Given the description of an element on the screen output the (x, y) to click on. 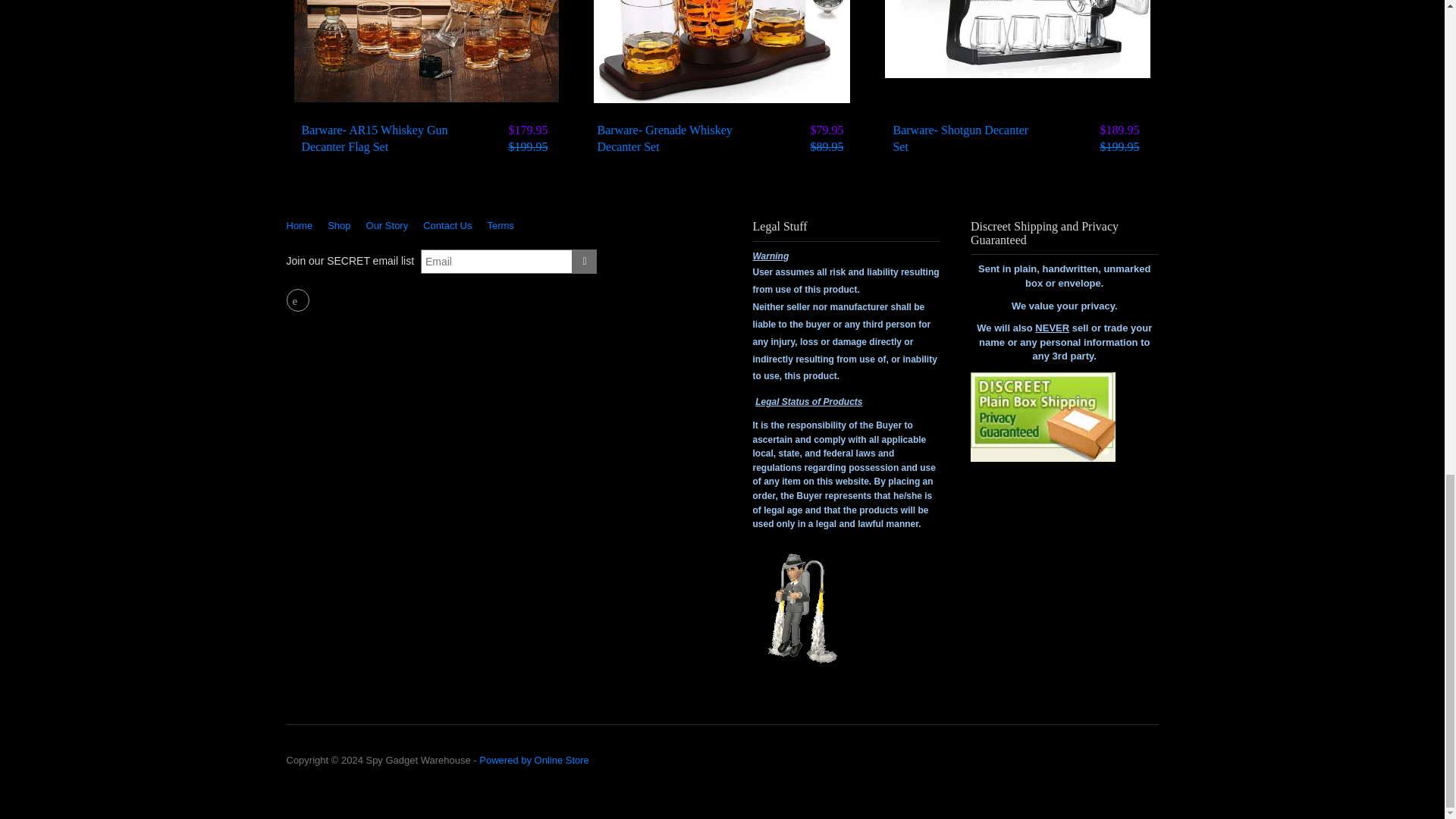
Home (303, 225)
Shop (339, 225)
Our Story (387, 225)
